Given the description of an element on the screen output the (x, y) to click on. 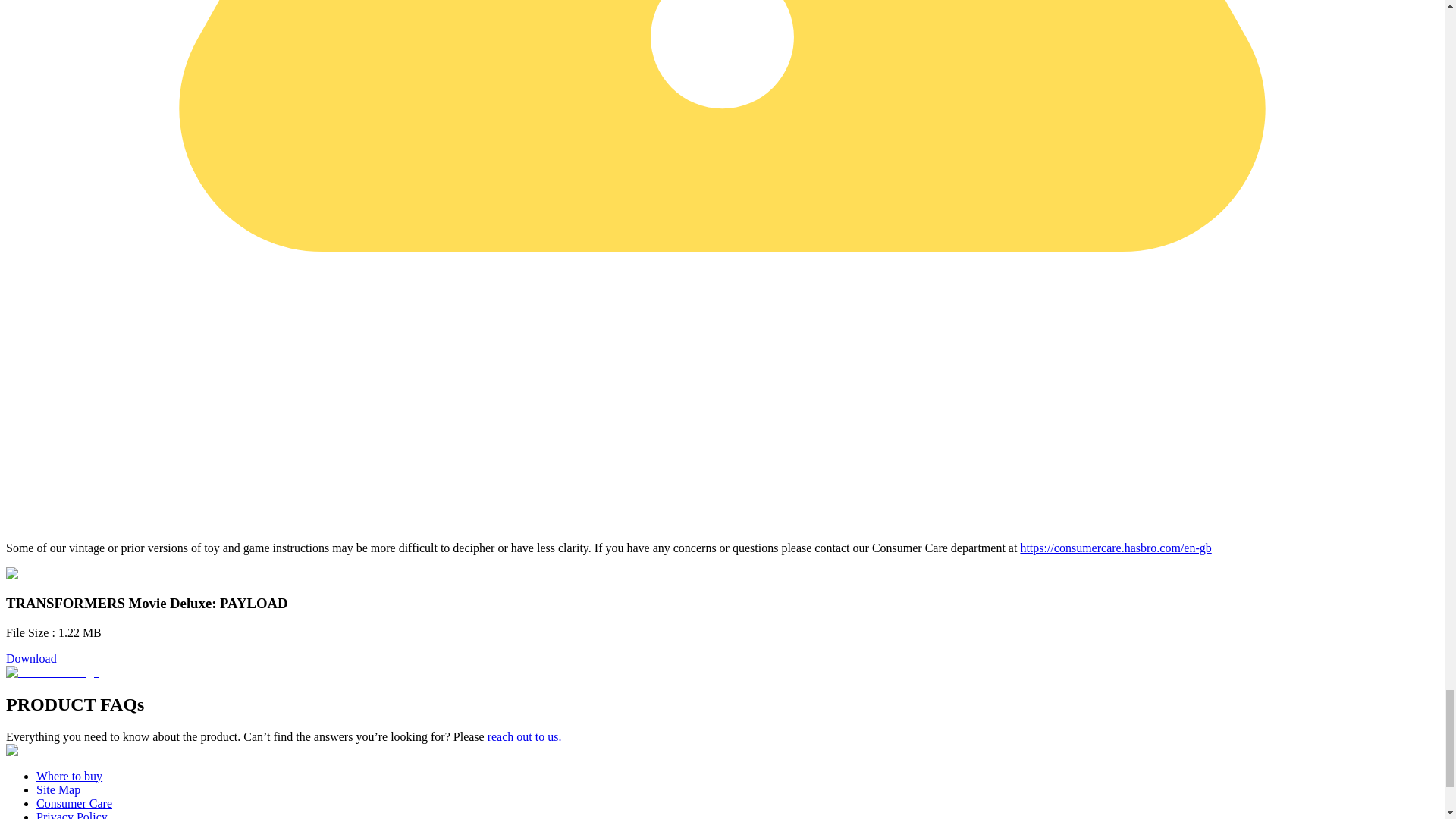
reach out to us. (524, 736)
Where to buy (68, 775)
Consumer Care (74, 802)
Site Map (58, 789)
Privacy Policy (71, 814)
